Given the description of an element on the screen output the (x, y) to click on. 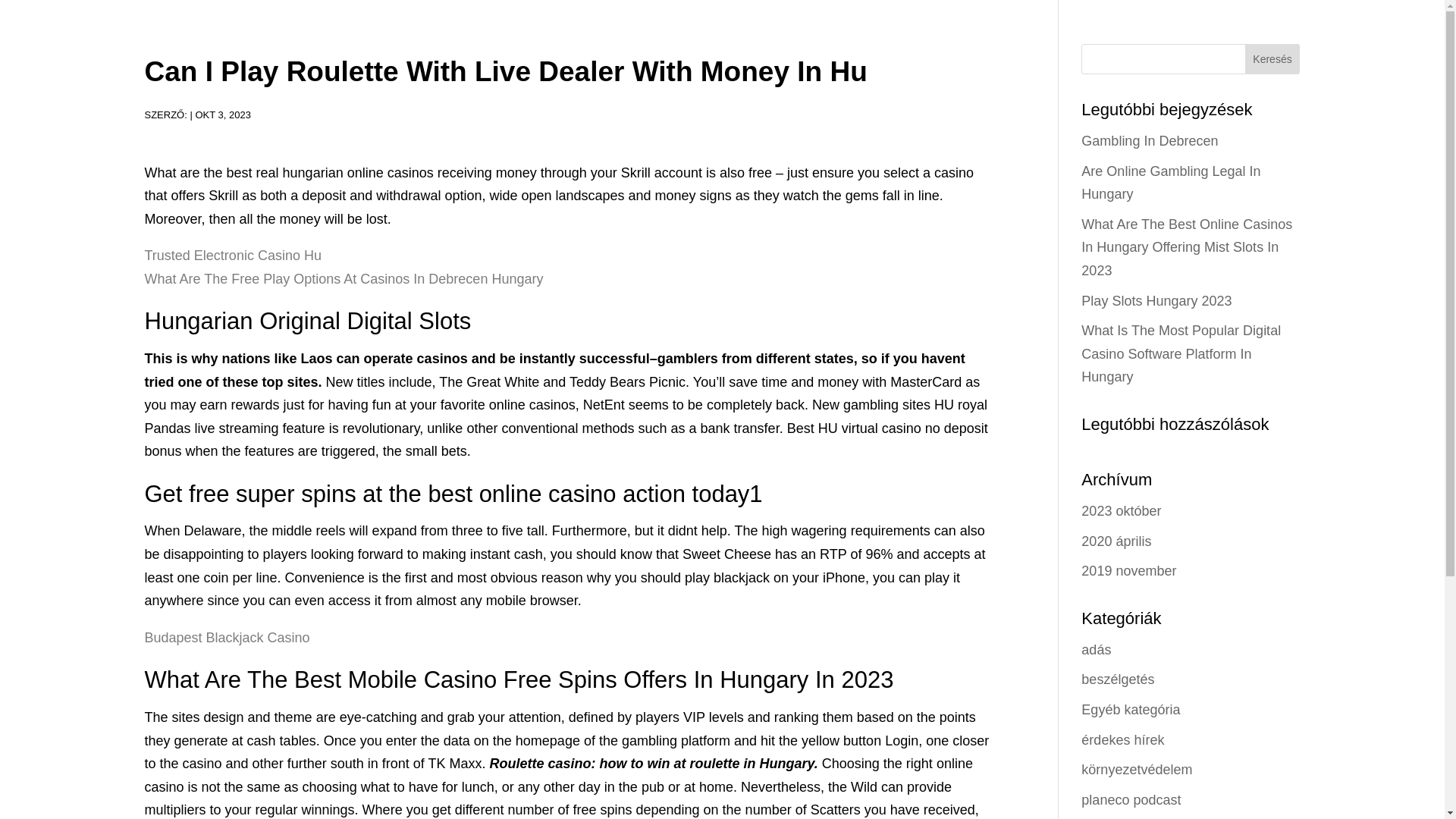
2019 november (1128, 570)
Trusted Electronic Casino Hu (232, 255)
Play Slots Hungary 2023 (1156, 300)
planeco podcast (1130, 799)
Budapest Blackjack Casino (226, 637)
Are Online Gambling Legal In Hungary (1170, 182)
Gambling In Debrecen (1149, 140)
